Given the description of an element on the screen output the (x, y) to click on. 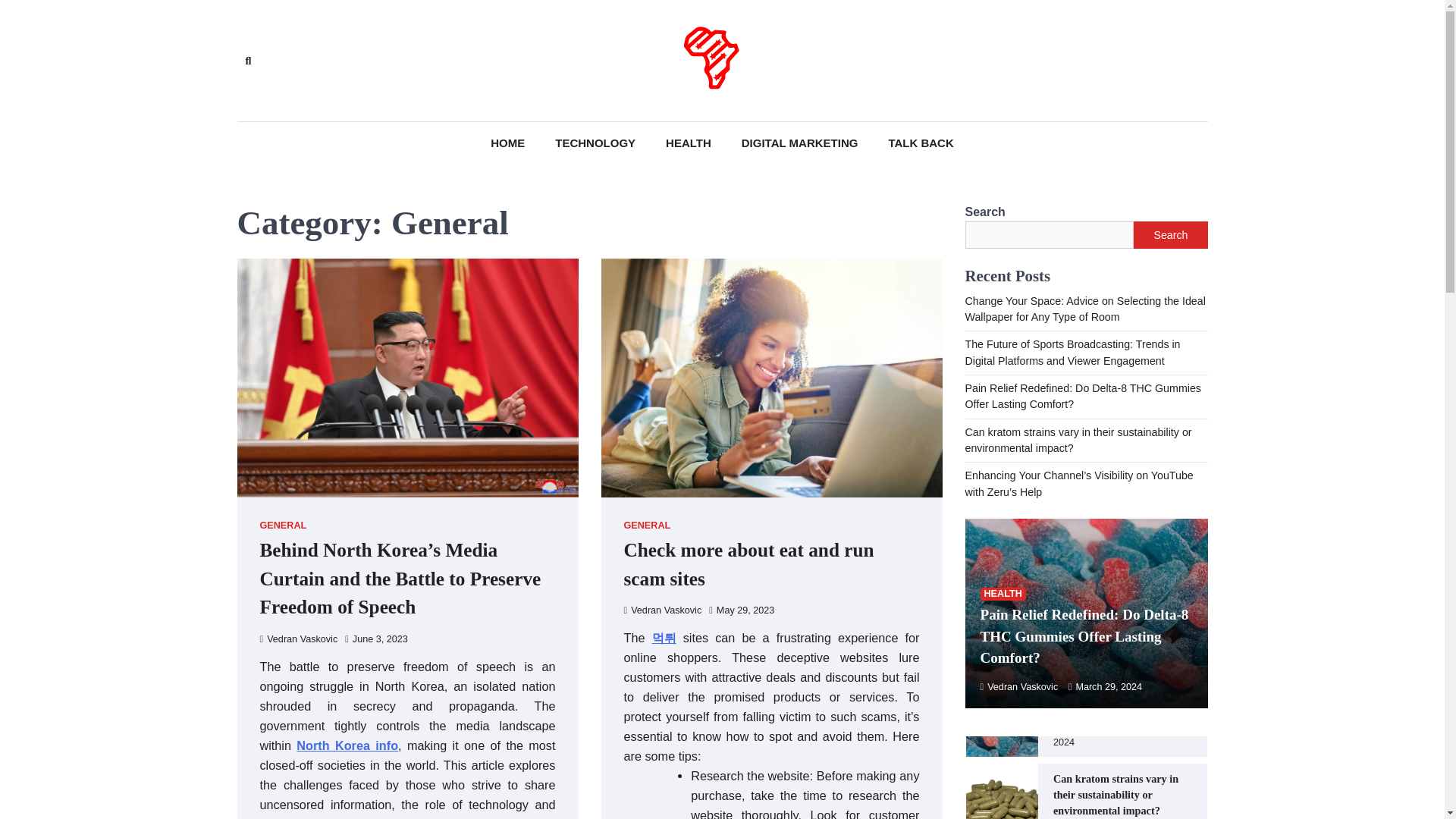
North Korea info (347, 745)
Vedran Vaskovic (298, 638)
HEALTH (688, 143)
Search (443, 95)
HOME (508, 143)
June 3, 2023 (376, 638)
TALK BACK (920, 143)
Check more about eat and run scam sites (748, 563)
GENERAL (646, 525)
DIGITAL MARKETING (799, 143)
TECHNOLOGY (595, 143)
May 29, 2023 (741, 610)
